Given the description of an element on the screen output the (x, y) to click on. 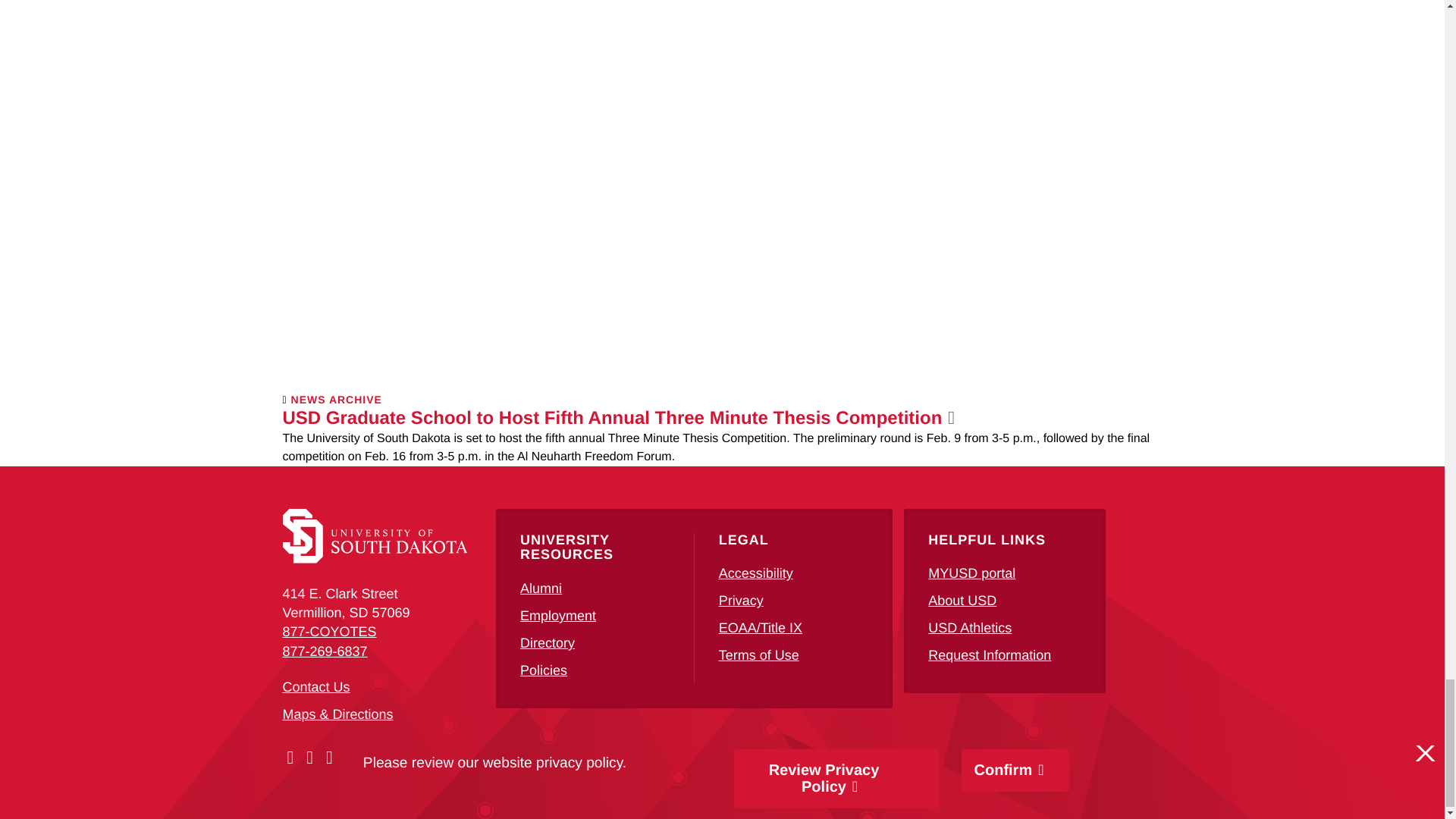
About USD (961, 600)
USD Terms of Use (759, 654)
Accessibility (756, 572)
USD Alumni (540, 588)
Privacy (740, 600)
Employment (557, 615)
Faculty and Staff Directory (547, 642)
USD Athletics site (969, 627)
Request Information (989, 654)
MYUSD portal (971, 572)
